Given the description of an element on the screen output the (x, y) to click on. 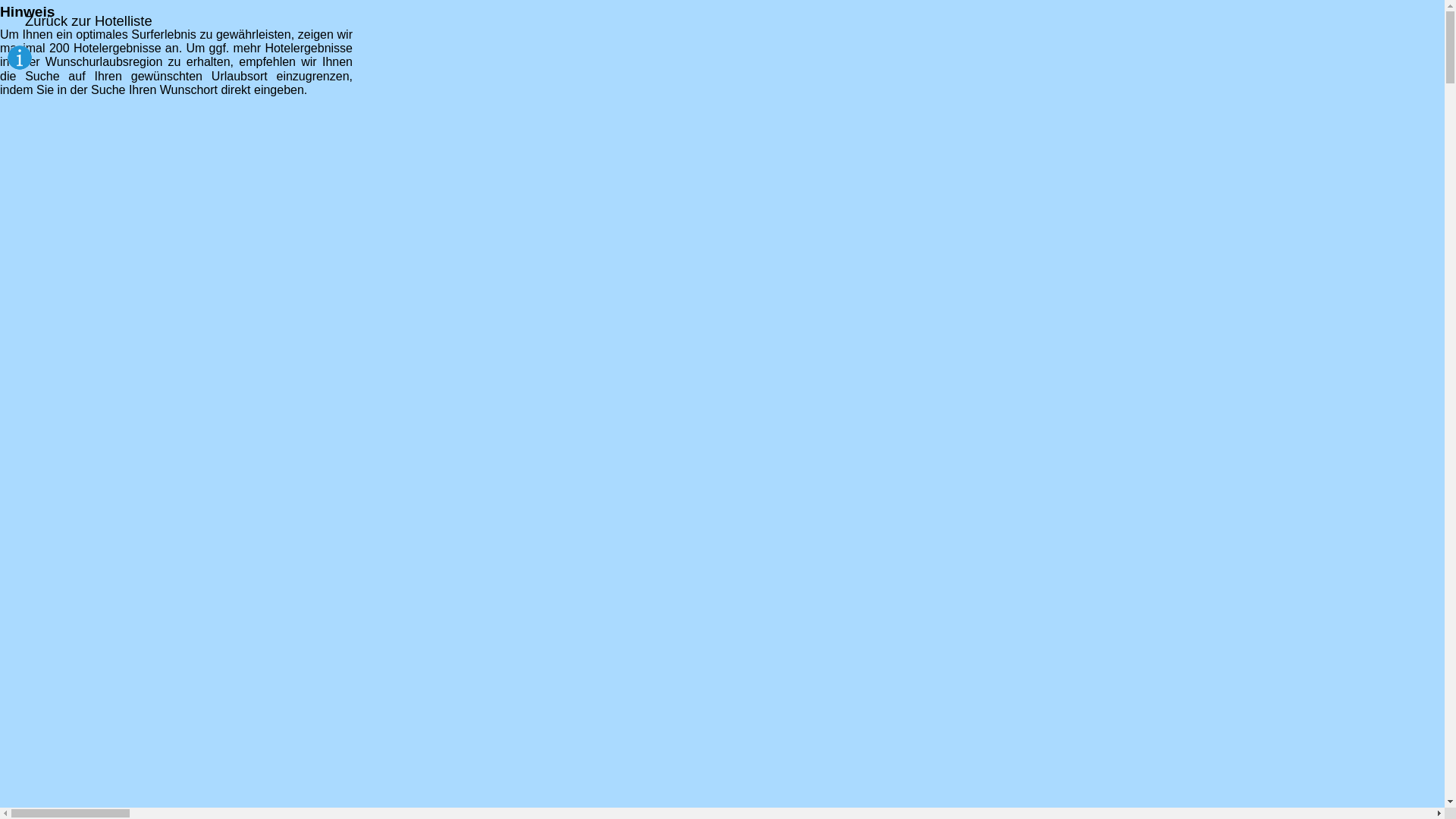
Mehr Informationen Element type: text (499, 18)
gesehene Hotels Verlauf 0 Element type: text (140, 461)
Merkzettel 0 Element type: text (34, 461)
Hotline Element type: text (18, 489)
